Given the description of an element on the screen output the (x, y) to click on. 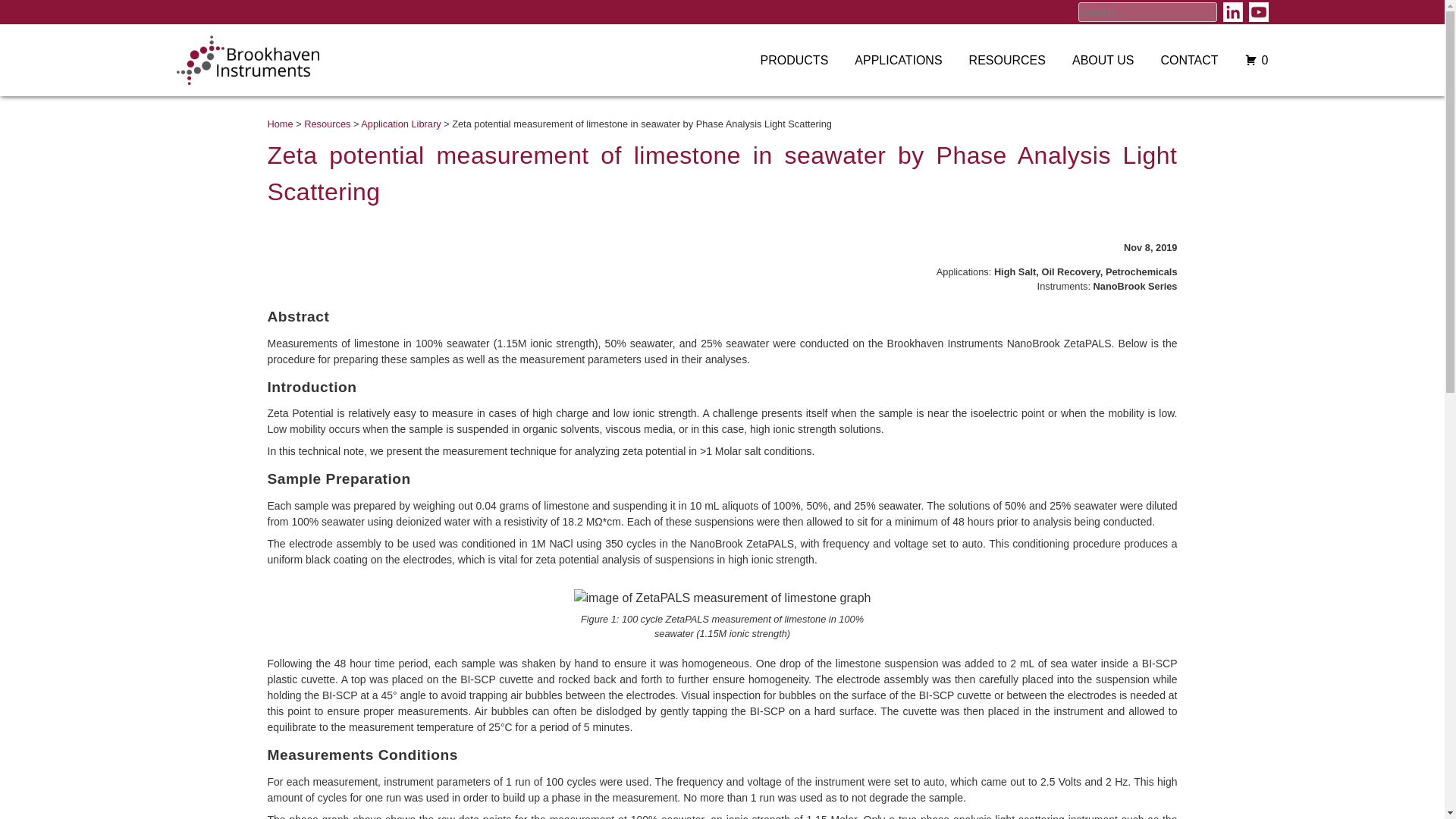
Go to the Resources Category archives. (327, 123)
APPLICATIONS (885, 60)
PRODUCTS (780, 60)
ABOUT US (1089, 60)
Resources (327, 123)
Go to Brookhaven Instruments. (279, 123)
CONTACT (1175, 60)
Application Library (401, 123)
Home (279, 123)
